Given the description of an element on the screen output the (x, y) to click on. 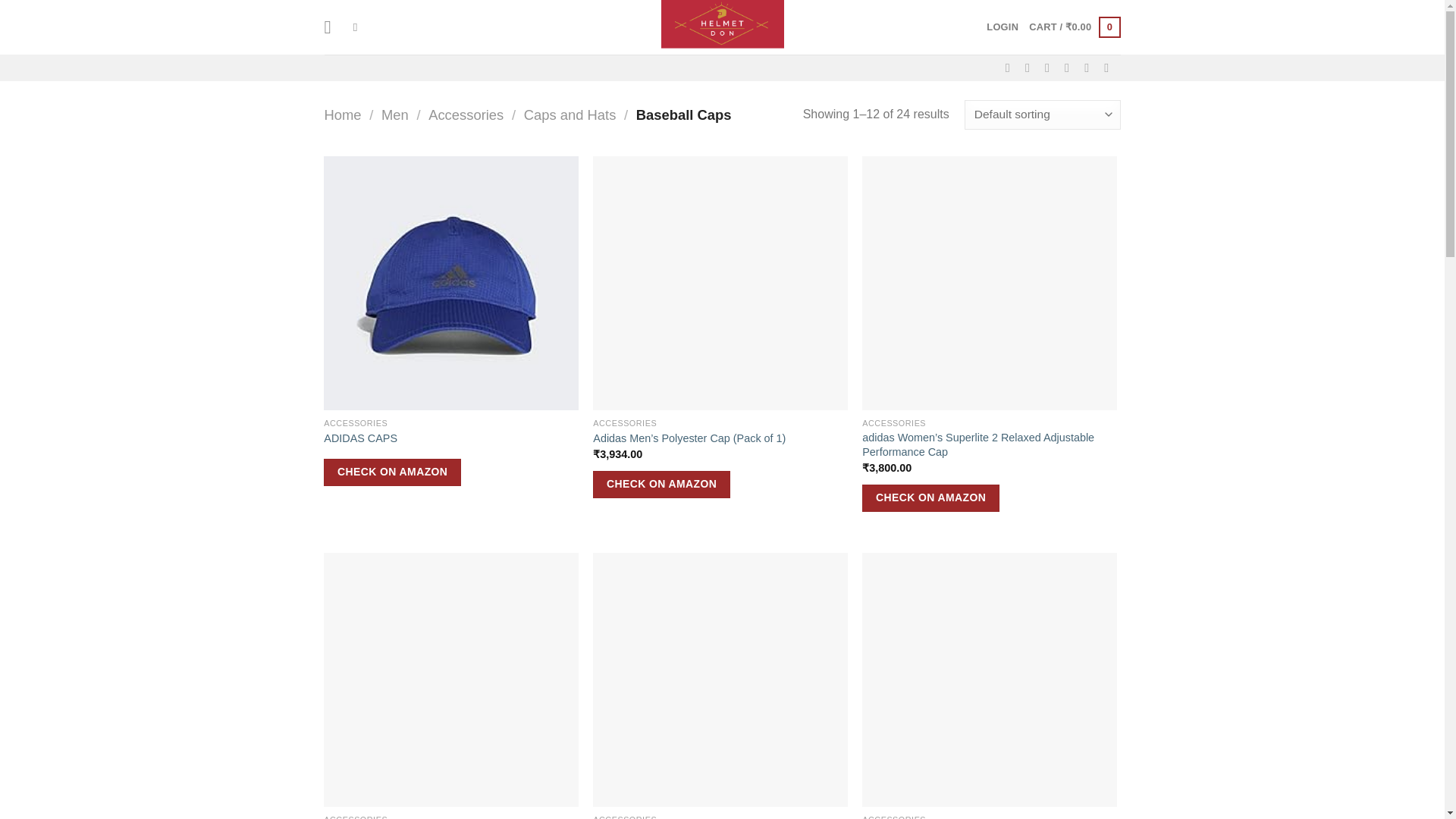
Men (395, 114)
Follow on YouTube (1109, 67)
Helmet Don - Ride Safe With The Don (722, 27)
BOLAX Pack of 2 Combo Ediko Cap Baseball Cap 4 (450, 679)
CHECK ON AMAZON (392, 472)
Follow on LinkedIn (1090, 67)
Cart (1074, 26)
CHECK ON AMAZON (661, 483)
Caps and Hats (569, 114)
ADIDAS CAPS 1 (450, 283)
ADIDAS CAPS (360, 438)
CHECK ON AMAZON (929, 497)
Accessories (465, 114)
